Given the description of an element on the screen output the (x, y) to click on. 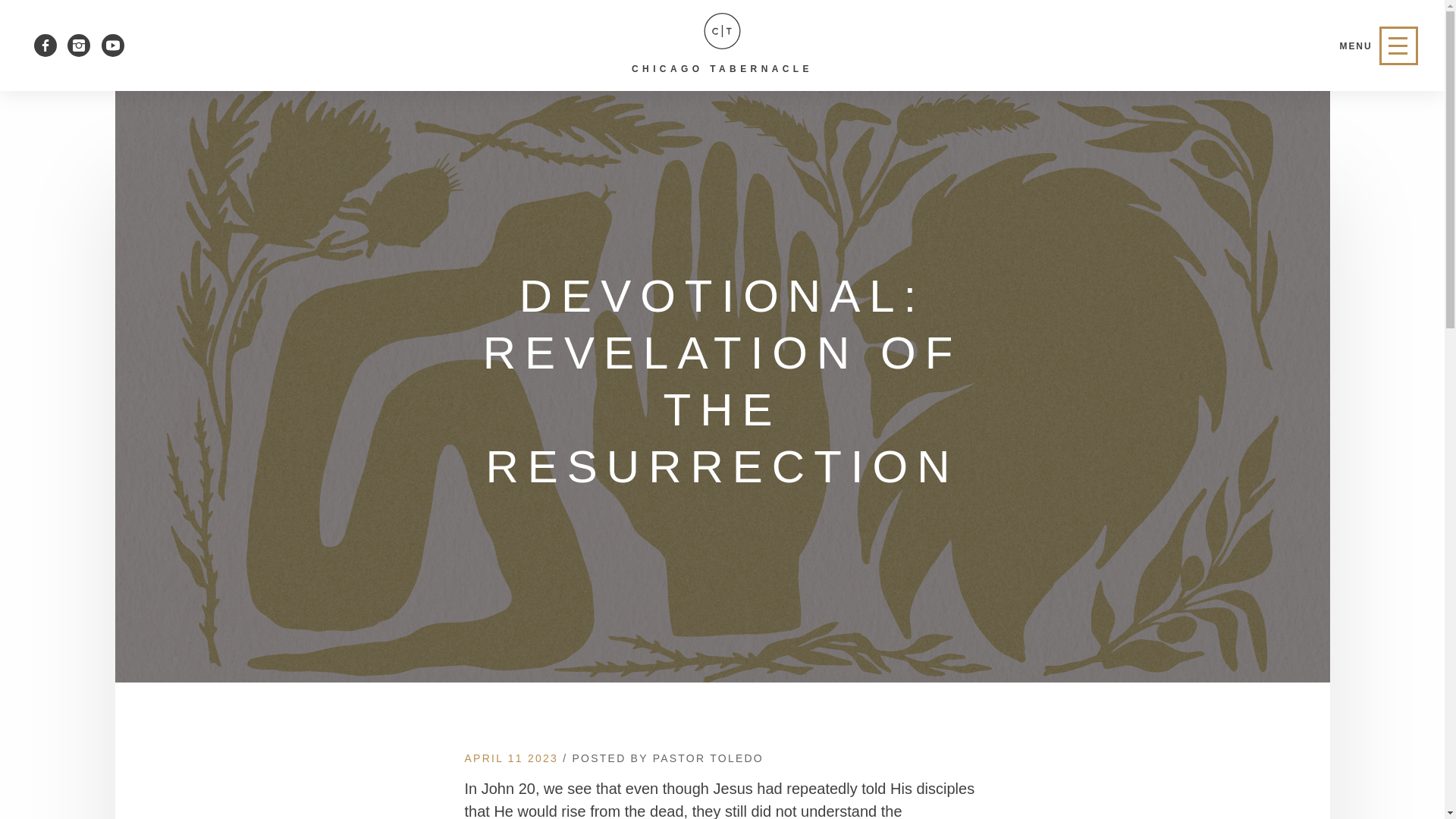
CHICAGO TABERNACLE (721, 43)
MENU (1378, 45)
